Given the description of an element on the screen output the (x, y) to click on. 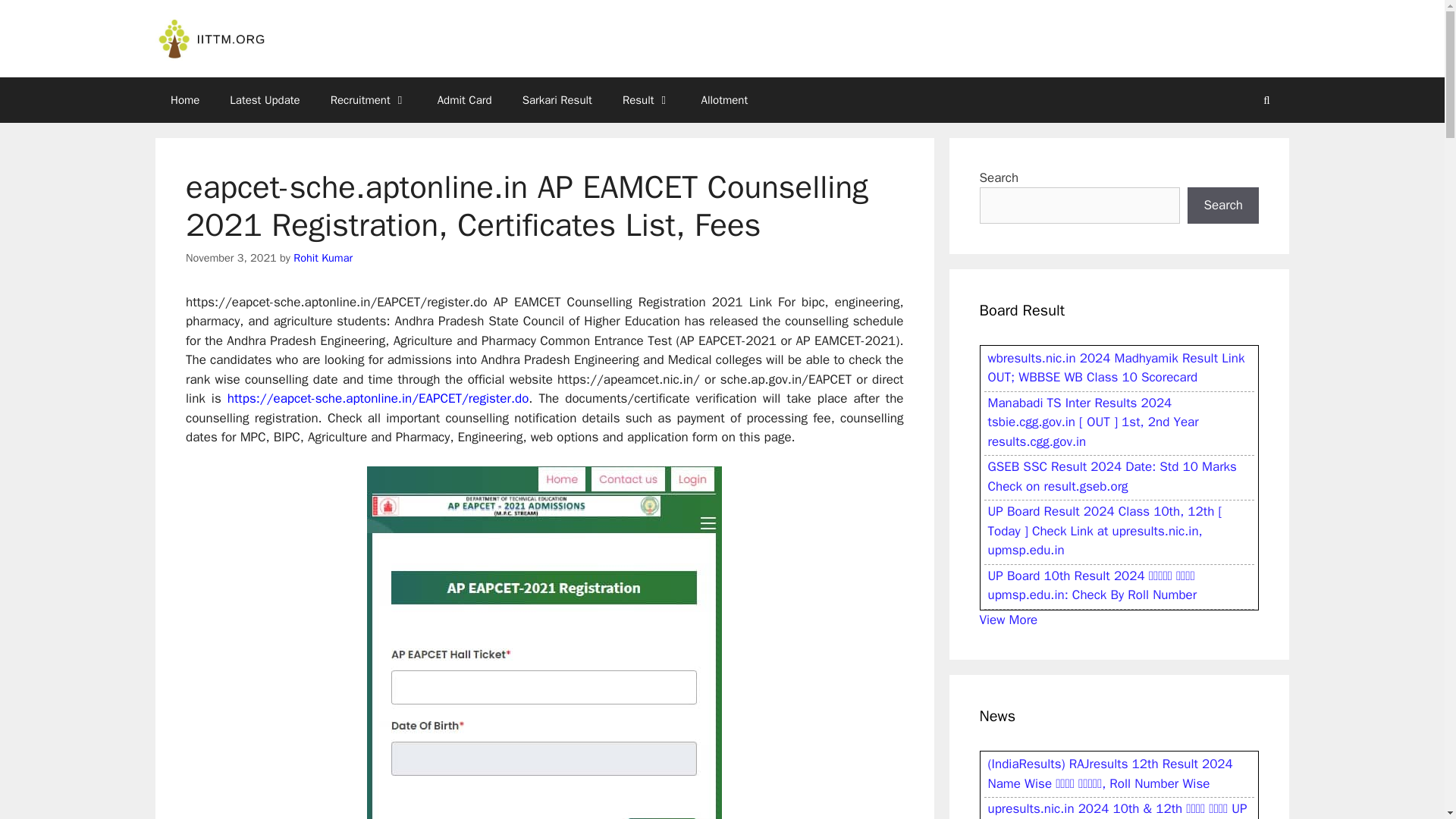
Home (184, 99)
Rohit Kumar (323, 257)
Latest Update (264, 99)
Sarkari Result (556, 99)
View all posts by Rohit Kumar (323, 257)
Result (646, 99)
Allotment (723, 99)
Recruitment (368, 99)
Admit Card (464, 99)
